Given the description of an element on the screen output the (x, y) to click on. 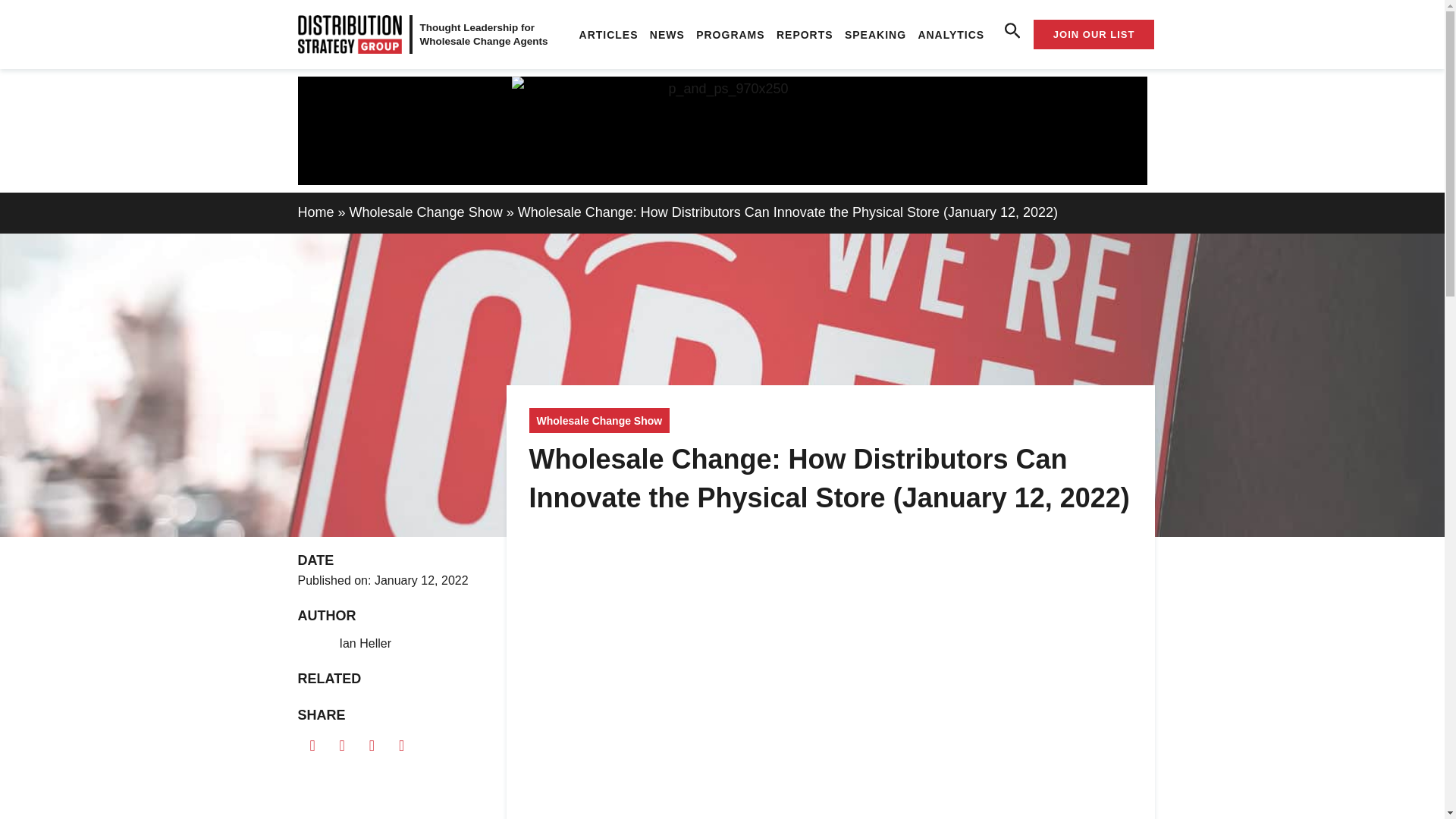
ANALYTICS (951, 34)
ARTICLES (608, 34)
SPEAKING (874, 34)
REPORTS (804, 34)
PROGRAMS (730, 34)
NEWS (666, 34)
